Given the description of an element on the screen output the (x, y) to click on. 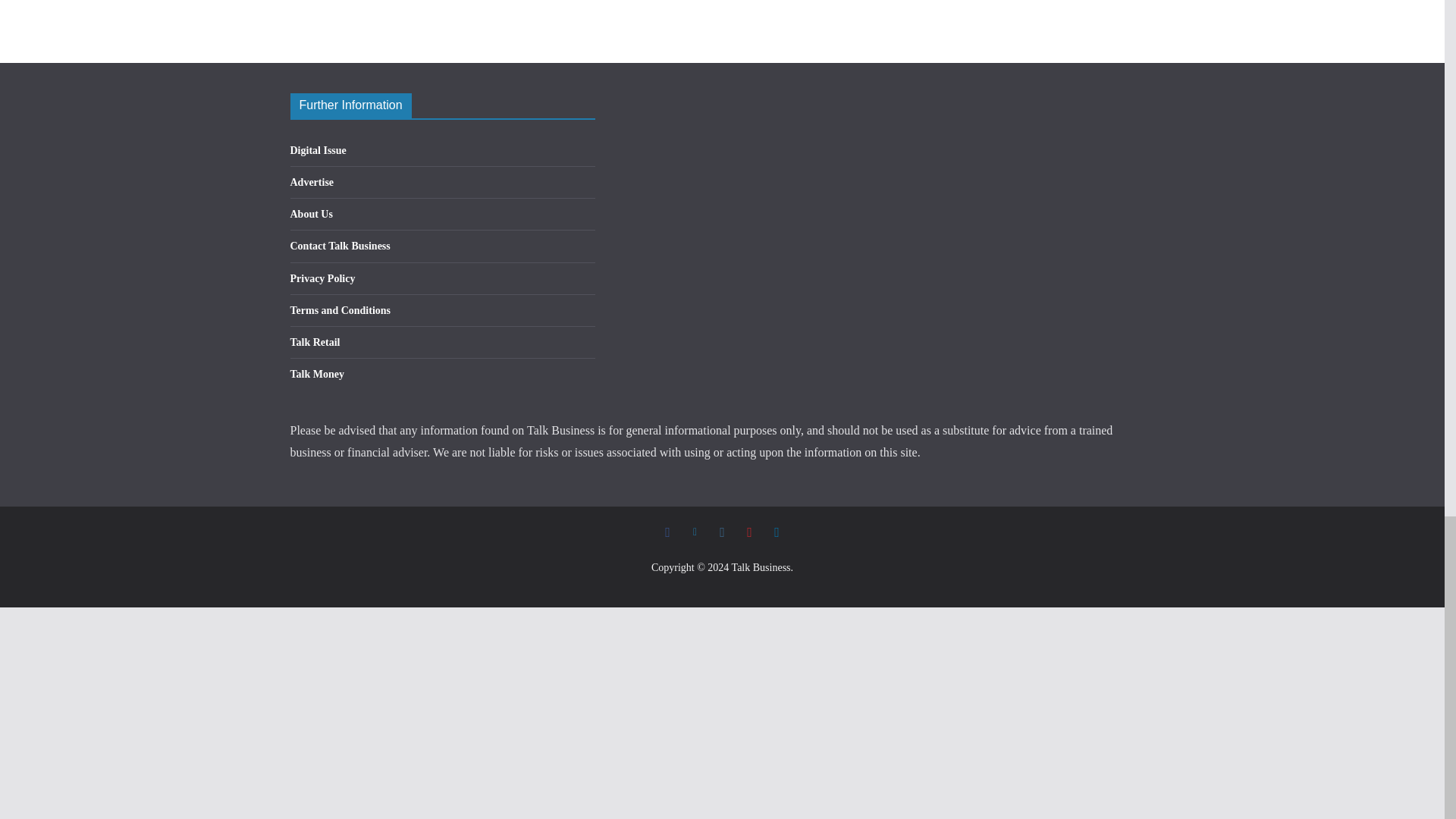
Privacy Policy (322, 278)
Contact Talk Business (339, 245)
Digital Issue (317, 150)
Terms and Conditions (339, 310)
Advertise (311, 182)
About Us (310, 214)
